Given the description of an element on the screen output the (x, y) to click on. 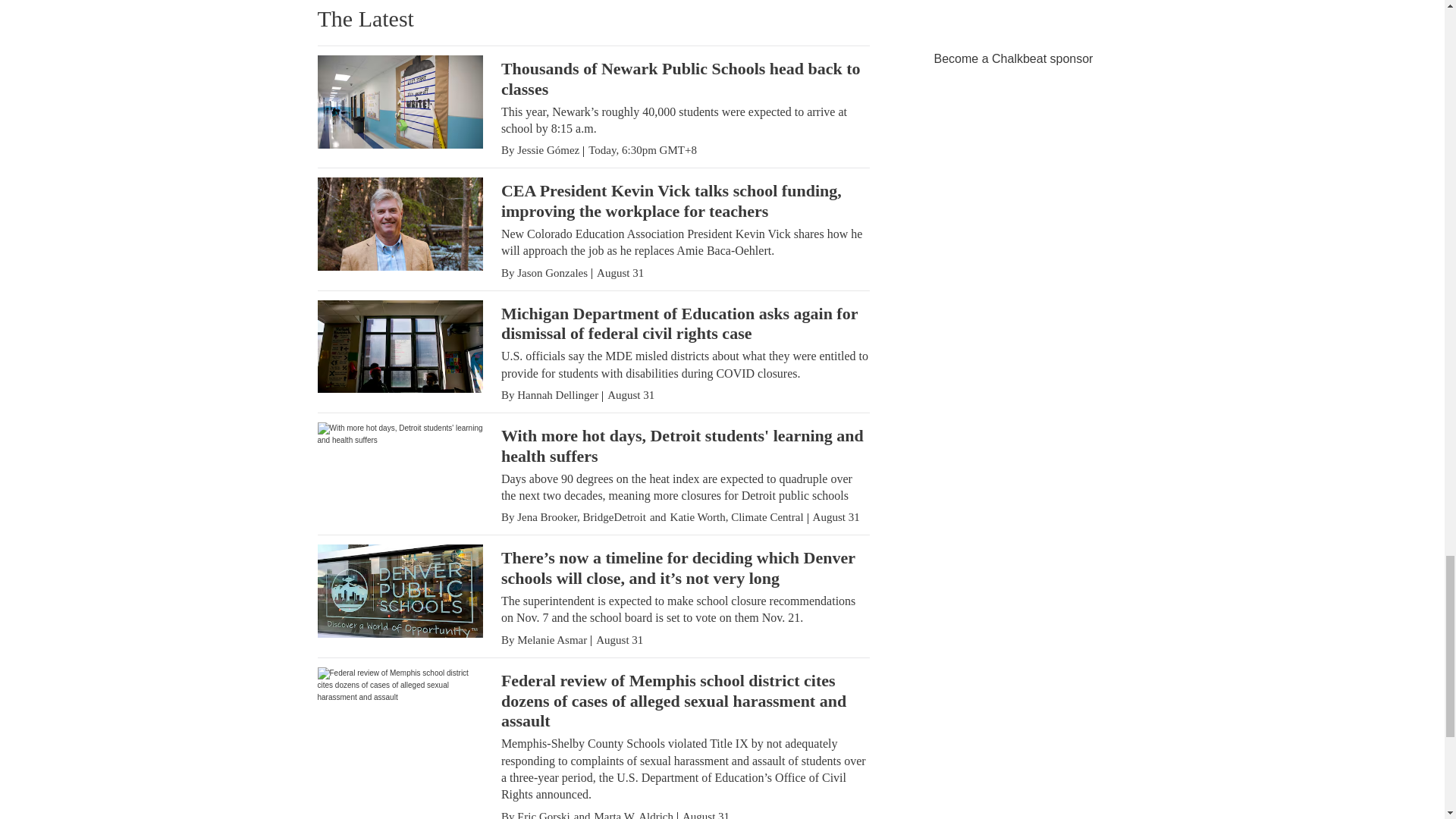
Thousands of Newark Public Schools head back to classes  (680, 78)
